Given the description of an element on the screen output the (x, y) to click on. 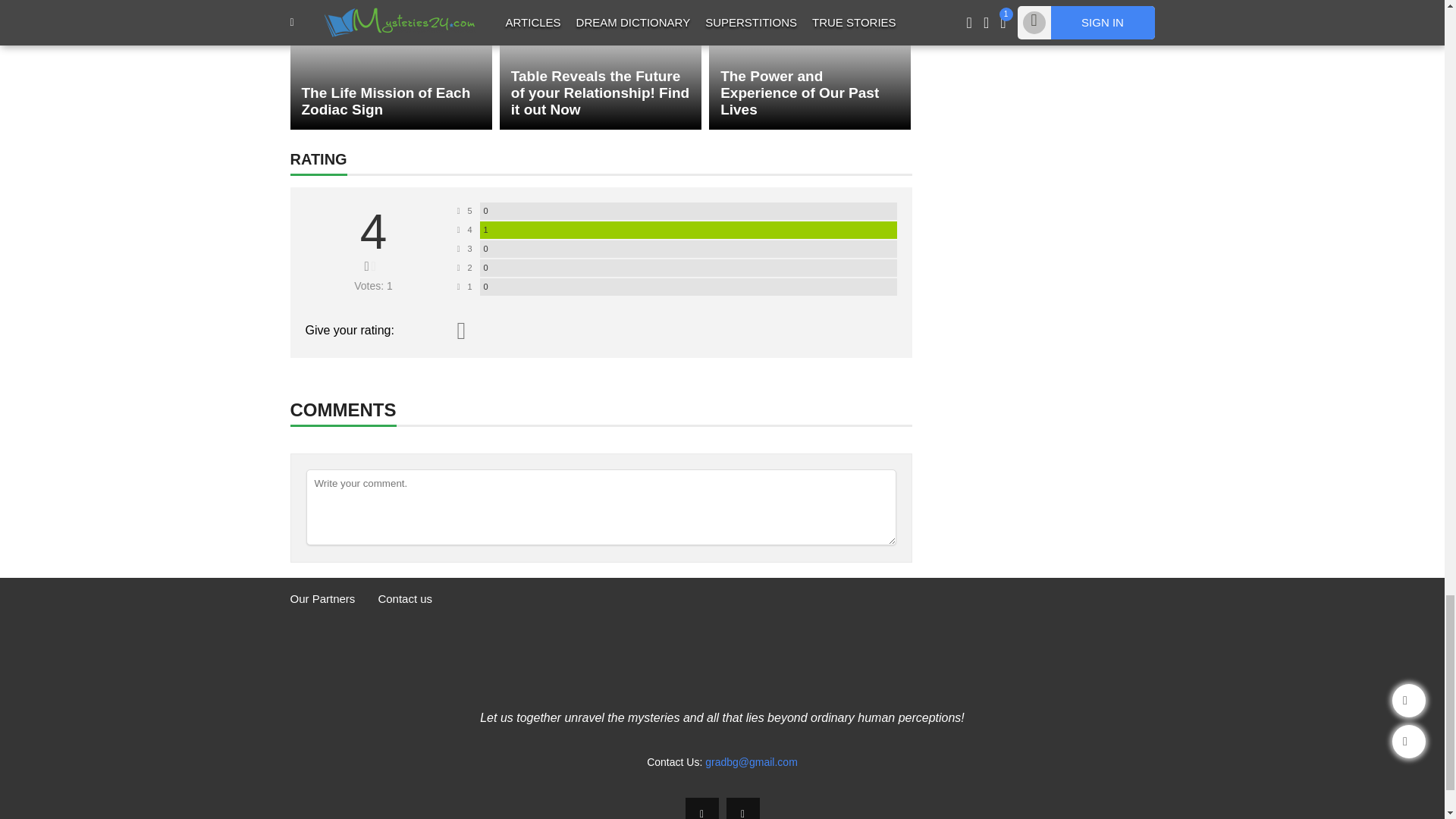
The Power and Experience of Our Past Lives (810, 64)
Facebook (702, 808)
RSS (743, 808)
The Life Mission of Each Zodiac Sign (390, 64)
